Given the description of an element on the screen output the (x, y) to click on. 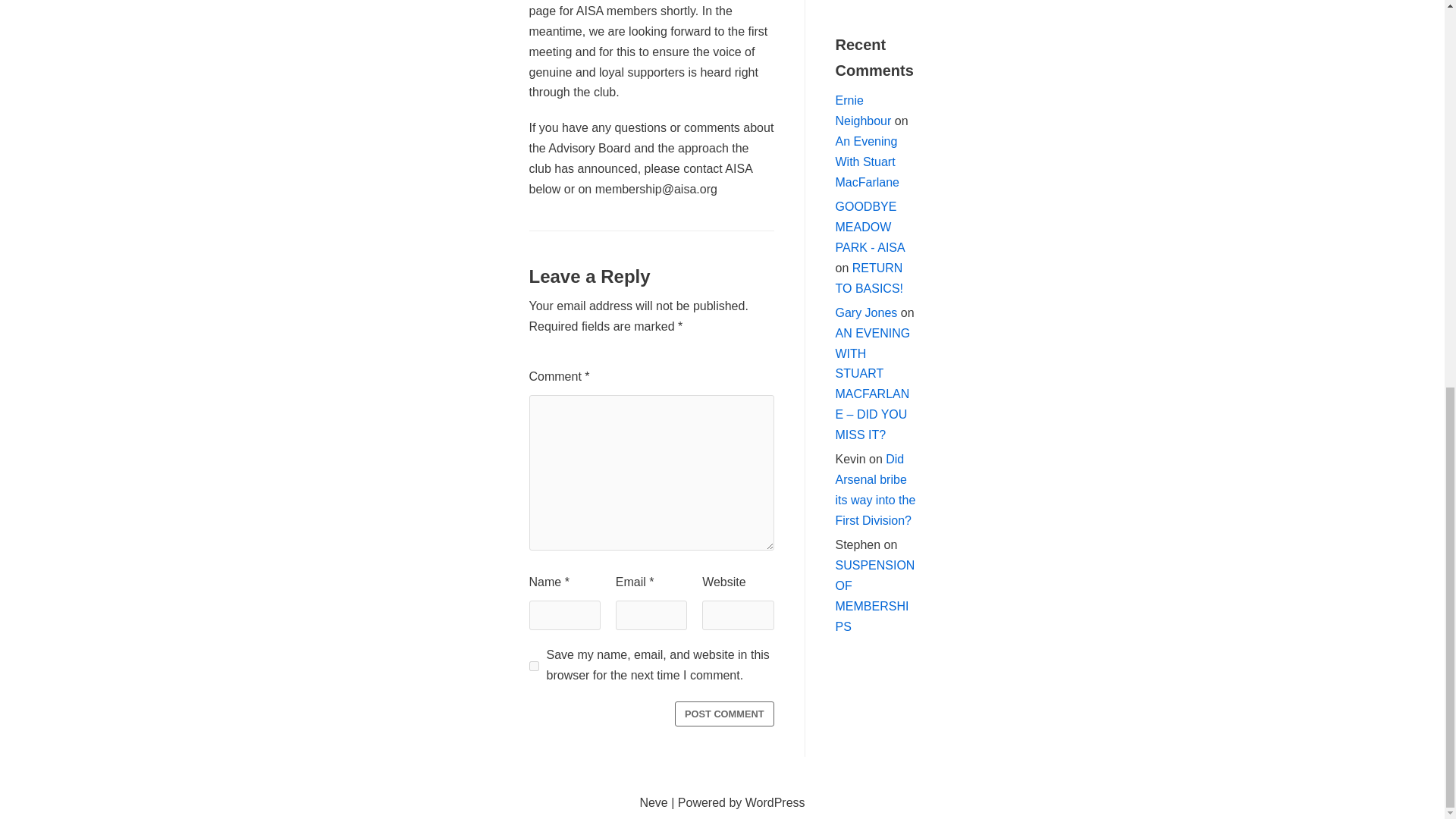
Post Comment (724, 713)
Post Comment (724, 713)
yes (533, 665)
